Given the description of an element on the screen output the (x, y) to click on. 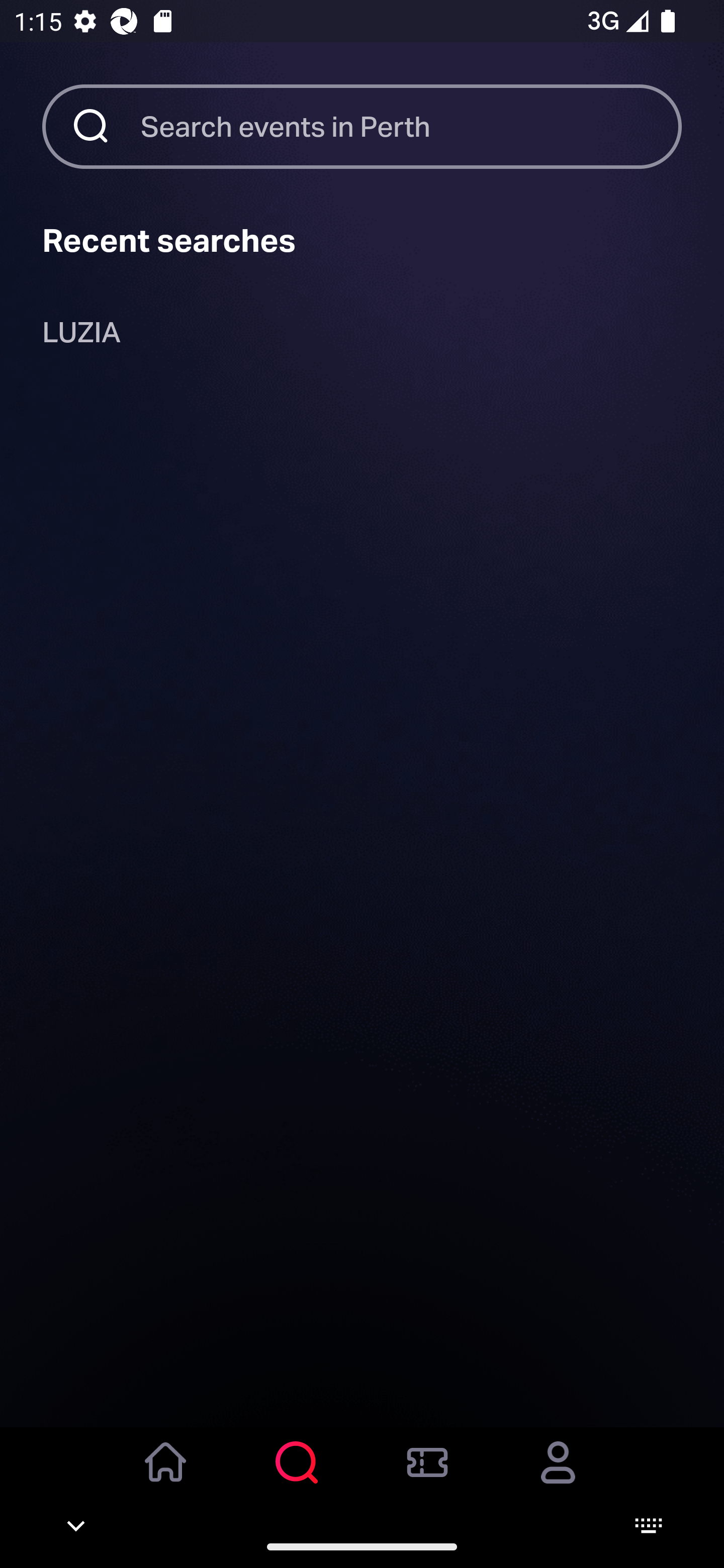
Search events in Perth (411, 126)
LUZIA (80, 336)
Home (165, 1475)
Orders (427, 1475)
Account (558, 1475)
